Given the description of an element on the screen output the (x, y) to click on. 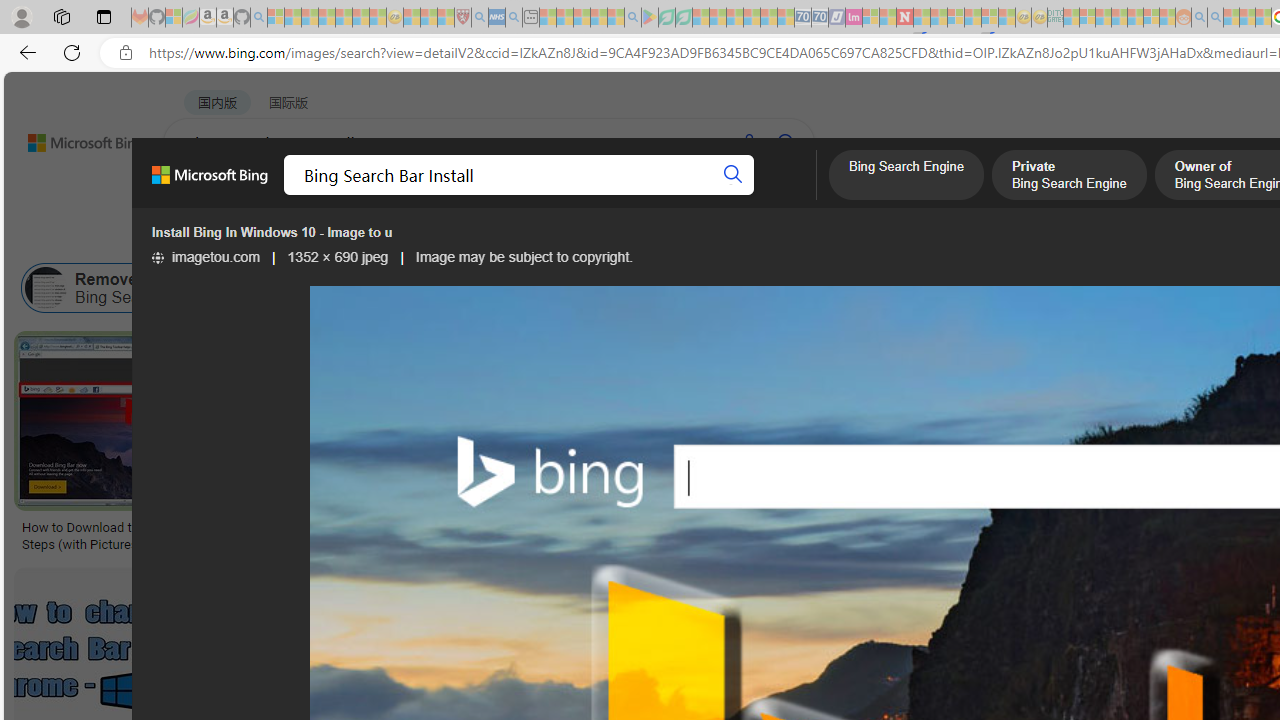
Search button (732, 174)
google - Search - Sleeping (632, 17)
License (664, 237)
Microsoft Bing, Back to Bing search (209, 183)
Pets - MSN - Sleeping (598, 17)
Kinda Frugal - MSN - Sleeping (1135, 17)
